Given the description of an element on the screen output the (x, y) to click on. 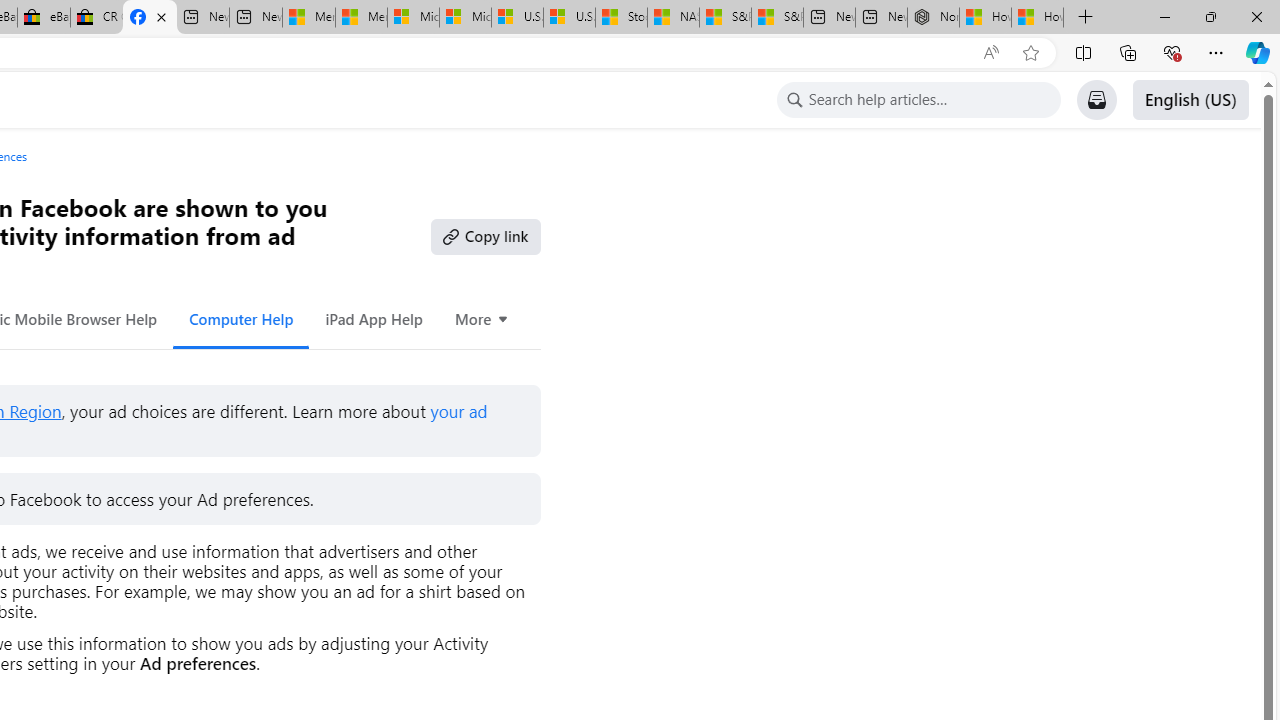
iPad App Help (373, 318)
